Given the description of an element on the screen output the (x, y) to click on. 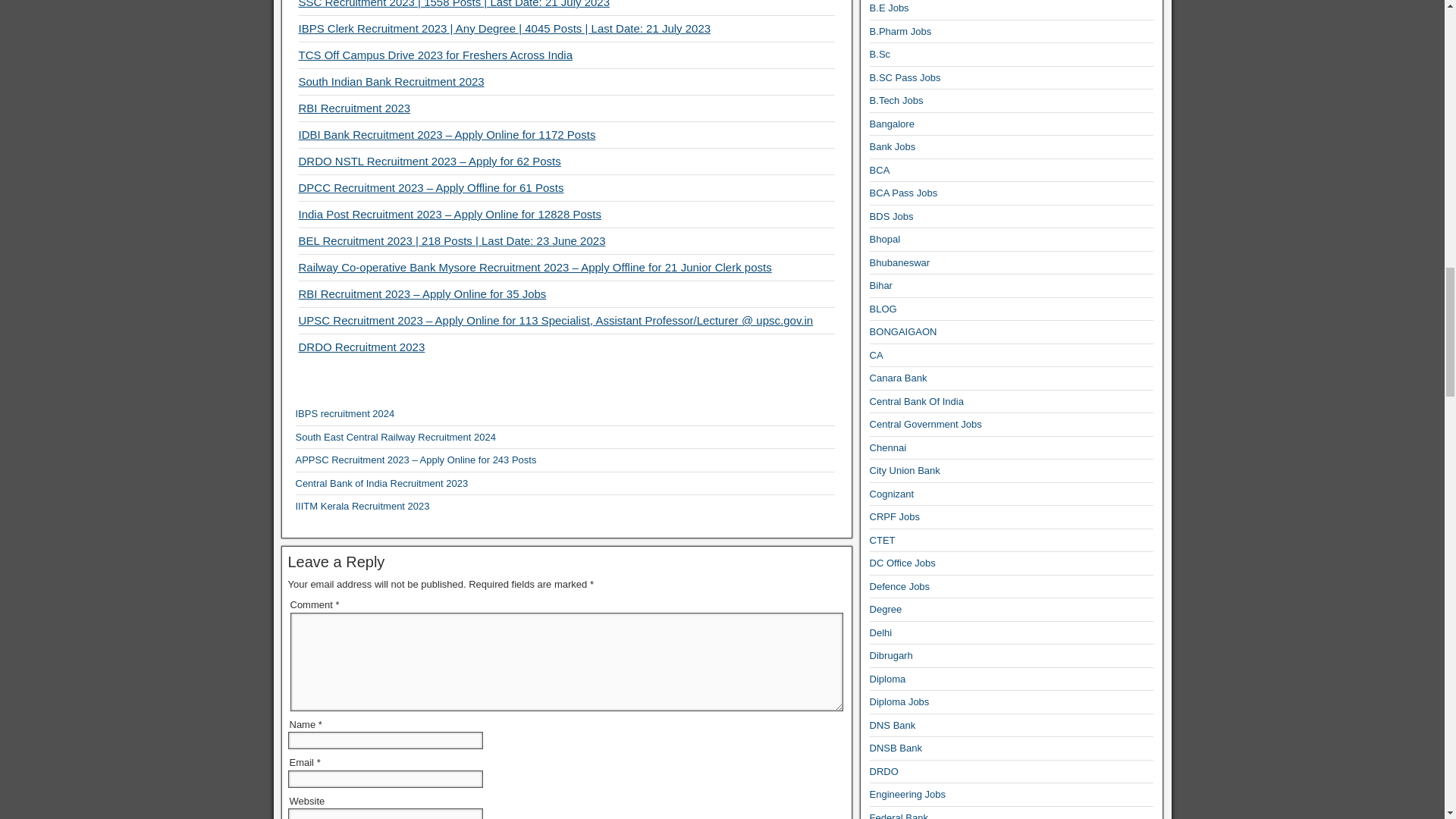
RBI Recruitment 2023 (354, 107)
TCS Off Campus Drive 2023 for Freshers Across India (435, 54)
South Indian Bank Recruitment 2023 (391, 81)
